Given the description of an element on the screen output the (x, y) to click on. 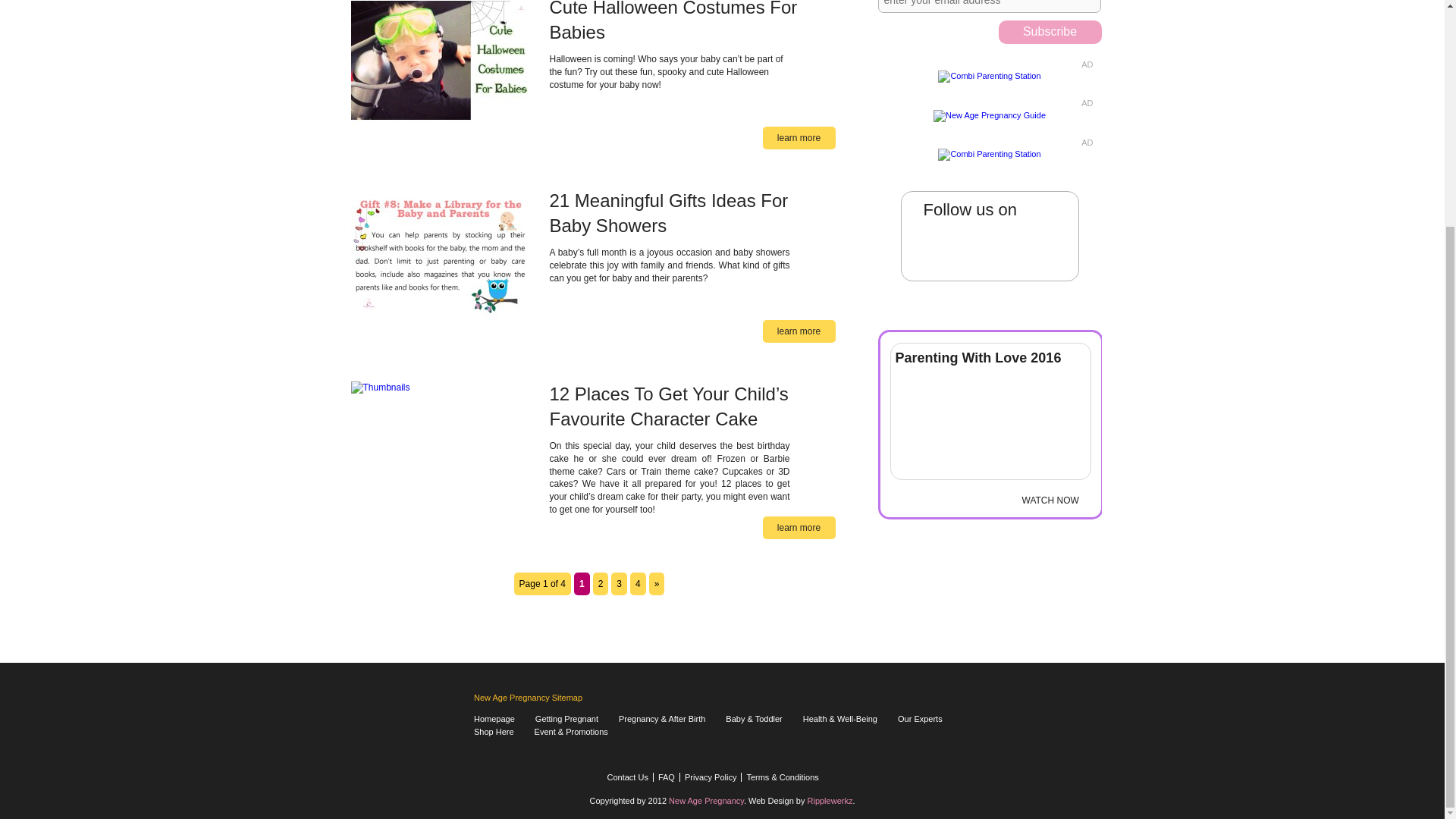
Subscribe (1048, 32)
